Given the description of an element on the screen output the (x, y) to click on. 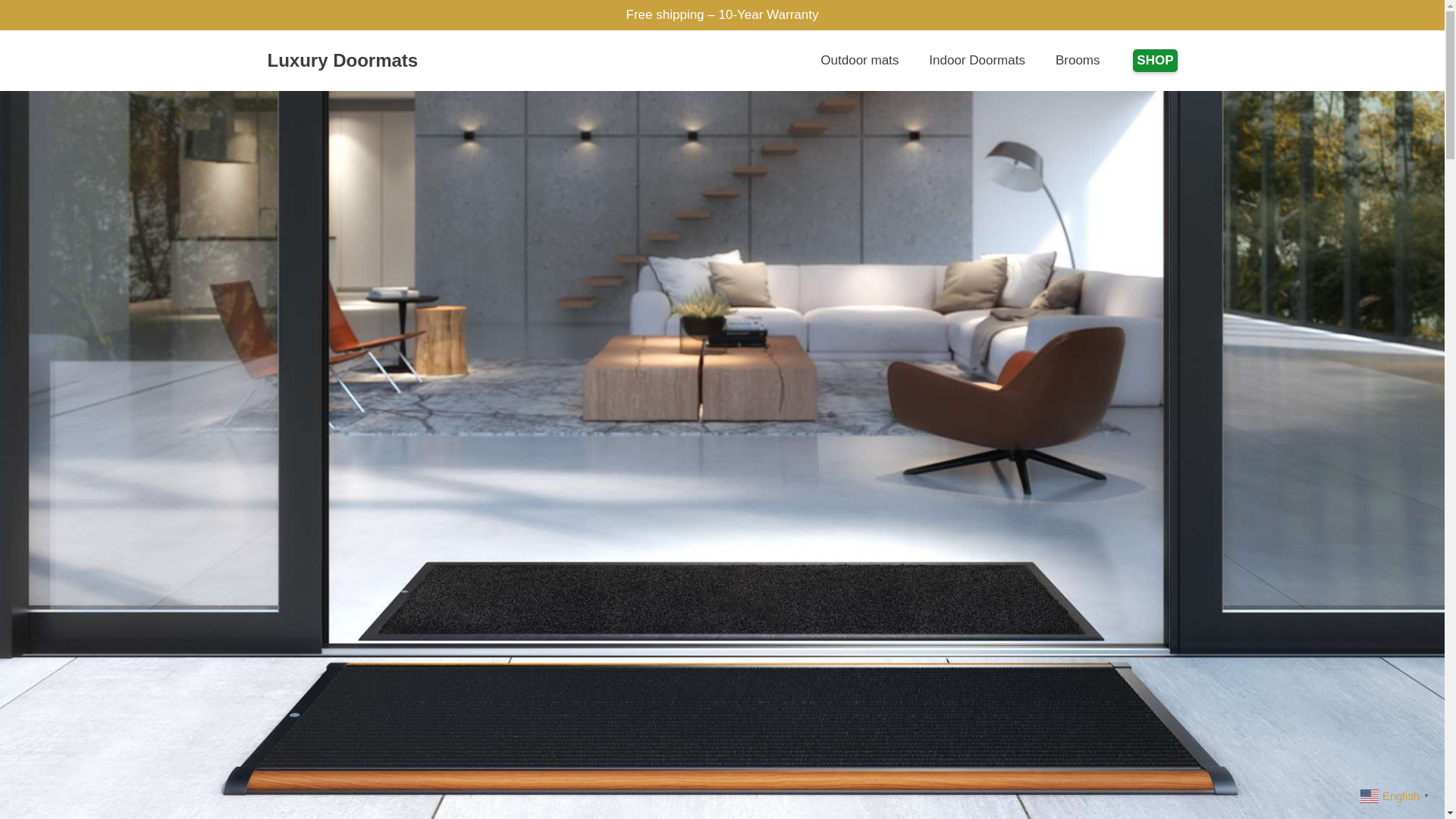
Outdoor mats (859, 60)
Luxury Doormats (341, 59)
Brooms (1078, 60)
Indoor Doormats (977, 60)
SHOP (1154, 60)
